Given the description of an element on the screen output the (x, y) to click on. 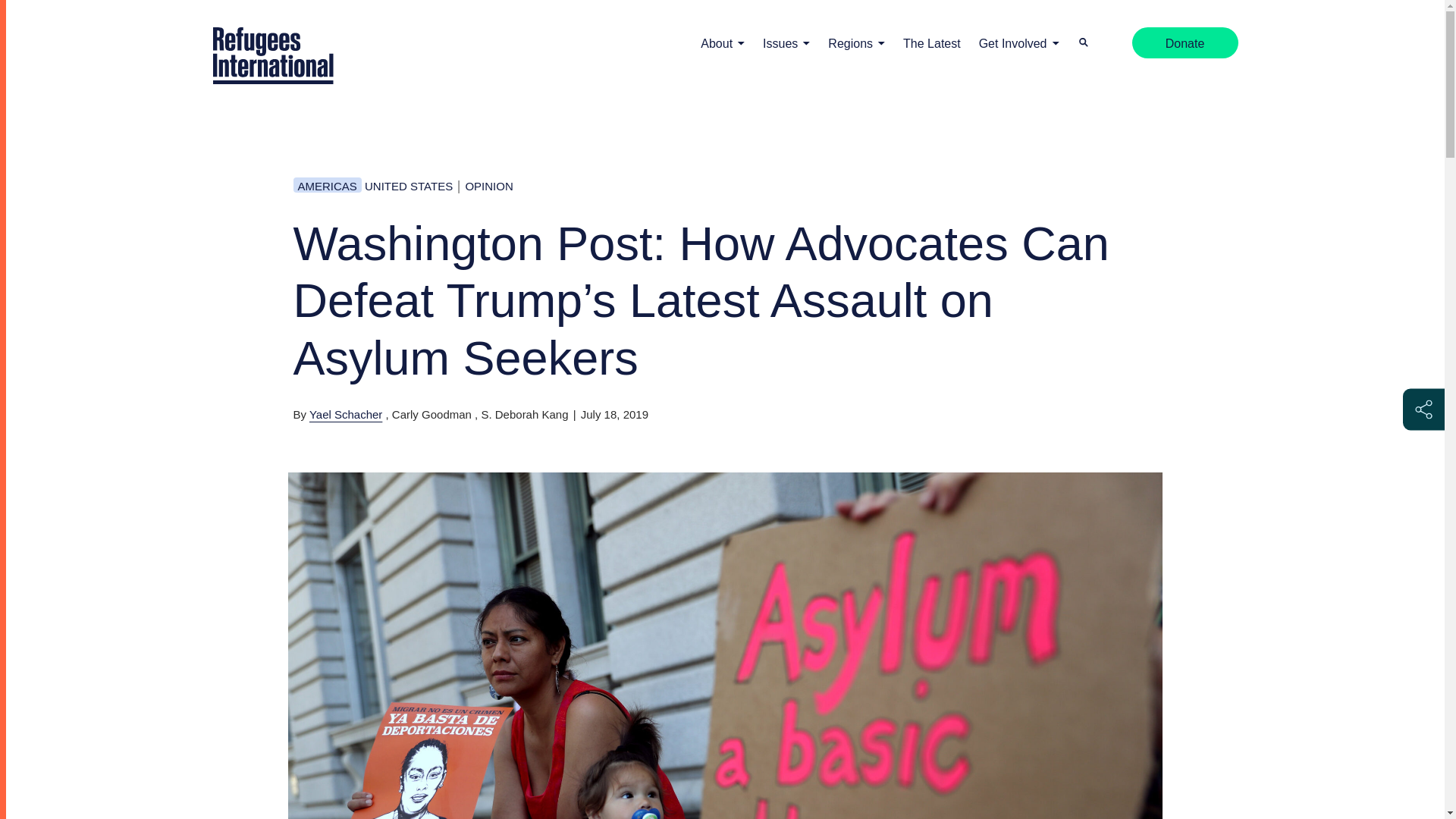
Regions (852, 43)
Get Involved (1014, 43)
Yael Schacher (344, 413)
The Latest (931, 43)
Search (1082, 42)
About (718, 43)
Issues (782, 43)
